Given the description of an element on the screen output the (x, y) to click on. 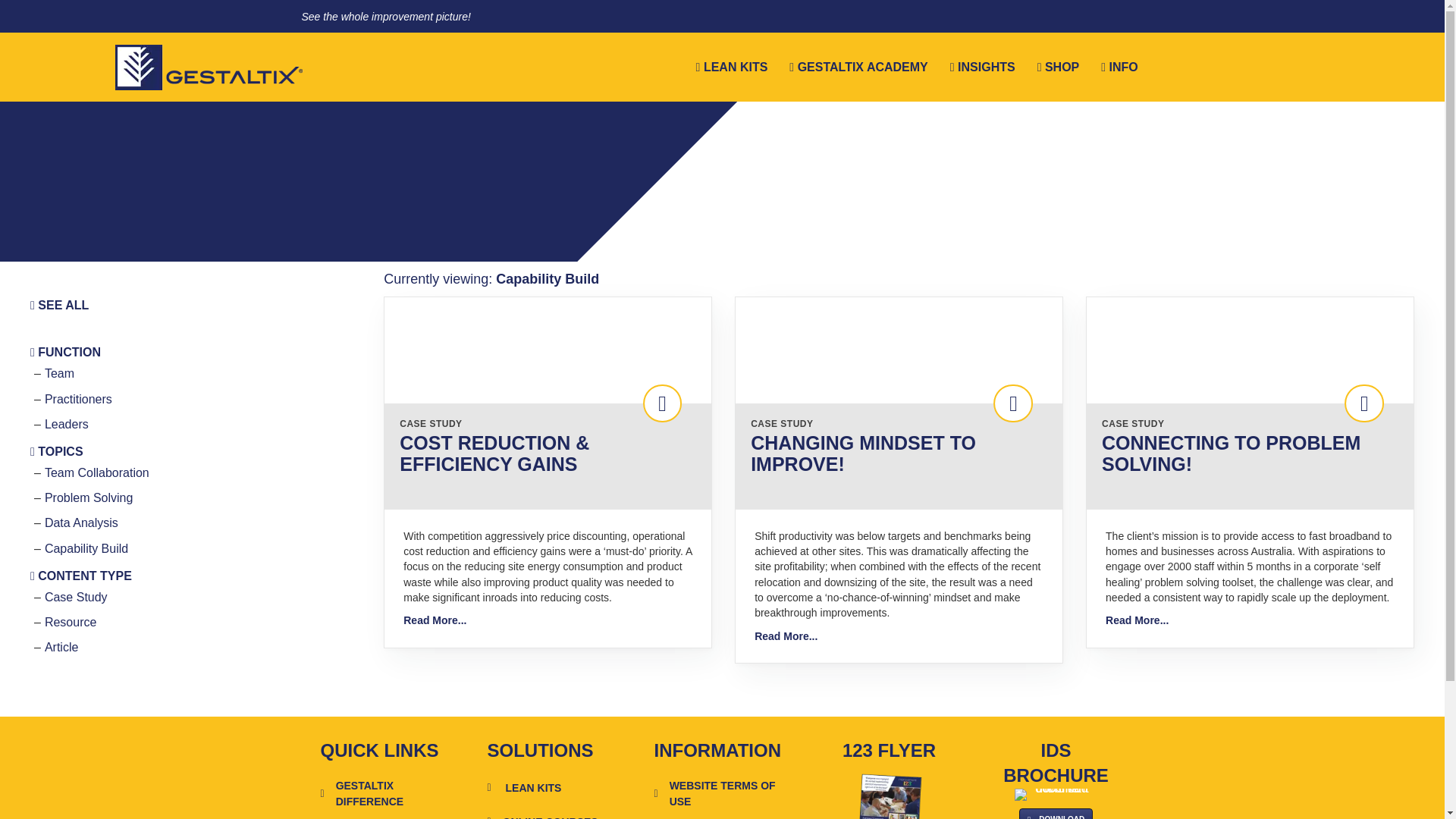
INSIGHTS (982, 66)
Resource (70, 621)
Problem Solving (89, 497)
gestaltix-full-logo-250x60 (209, 67)
Capability Build (86, 548)
Leaders (66, 423)
Team (59, 373)
Read More... (434, 620)
FUNCTION (65, 351)
Read More... (1137, 620)
CONTENT TYPE (81, 575)
LEAN KITS (731, 66)
Data Analysis (81, 522)
Team Collaboration (97, 472)
GESTALTIX ACADEMY (857, 66)
